Given the description of an element on the screen output the (x, y) to click on. 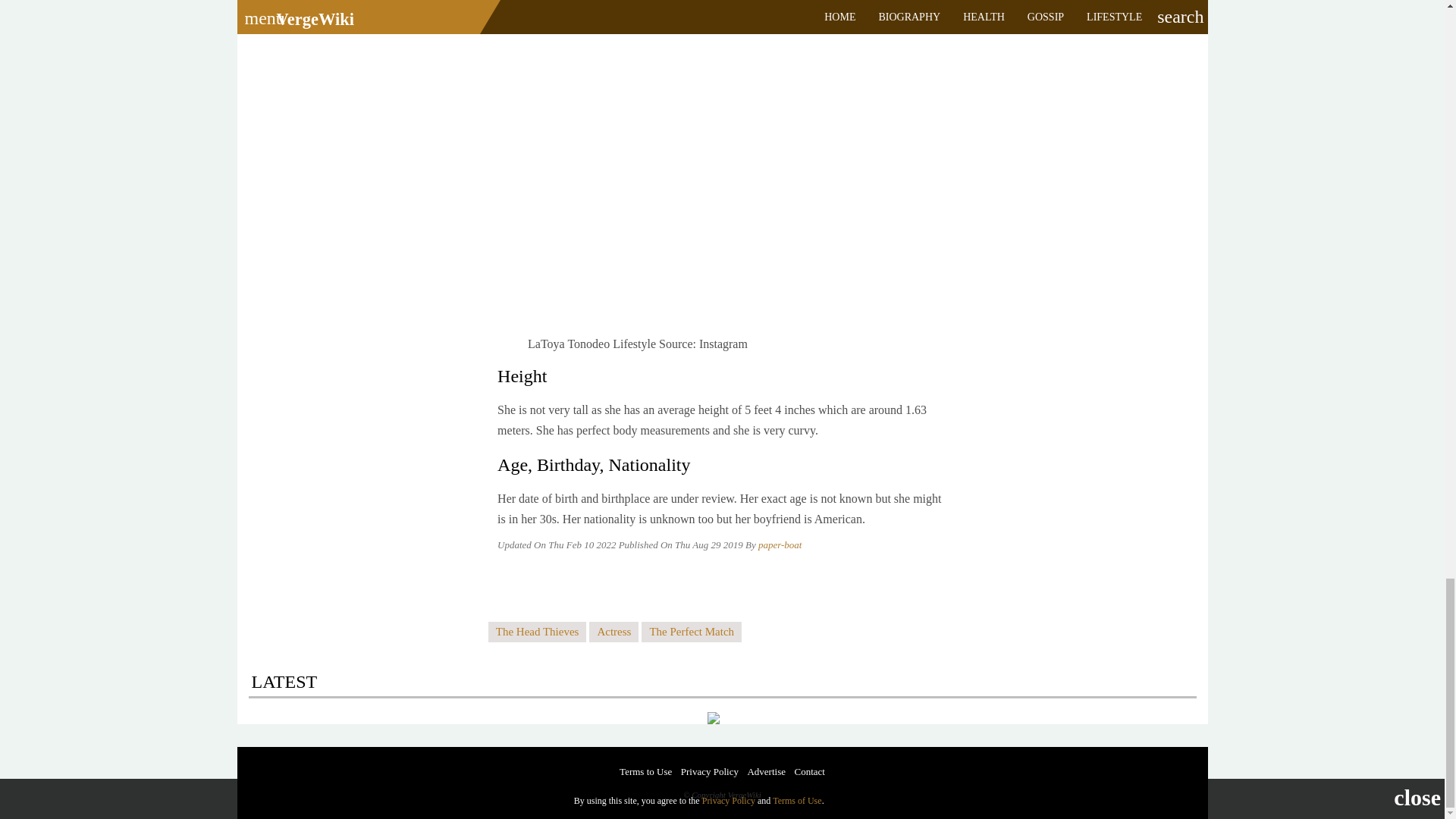
The Perfect Match (691, 631)
Actress (614, 631)
The Head Thieves (536, 631)
paper-boat (780, 544)
